Given the description of an element on the screen output the (x, y) to click on. 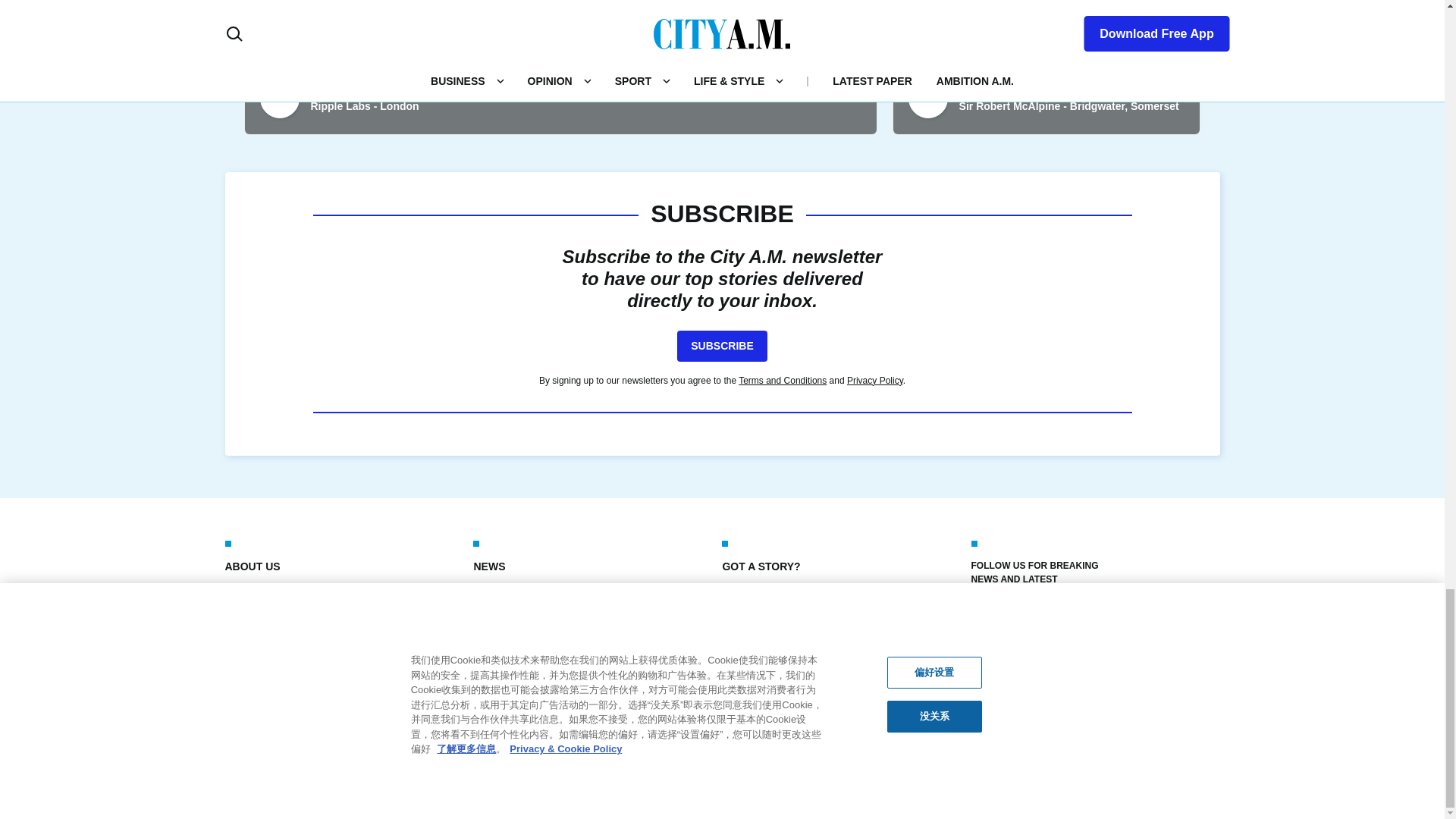
LINKEDIN (1082, 623)
INSTAGRAM (1048, 623)
FACEBOOK (982, 623)
X (1015, 623)
